Given the description of an element on the screen output the (x, y) to click on. 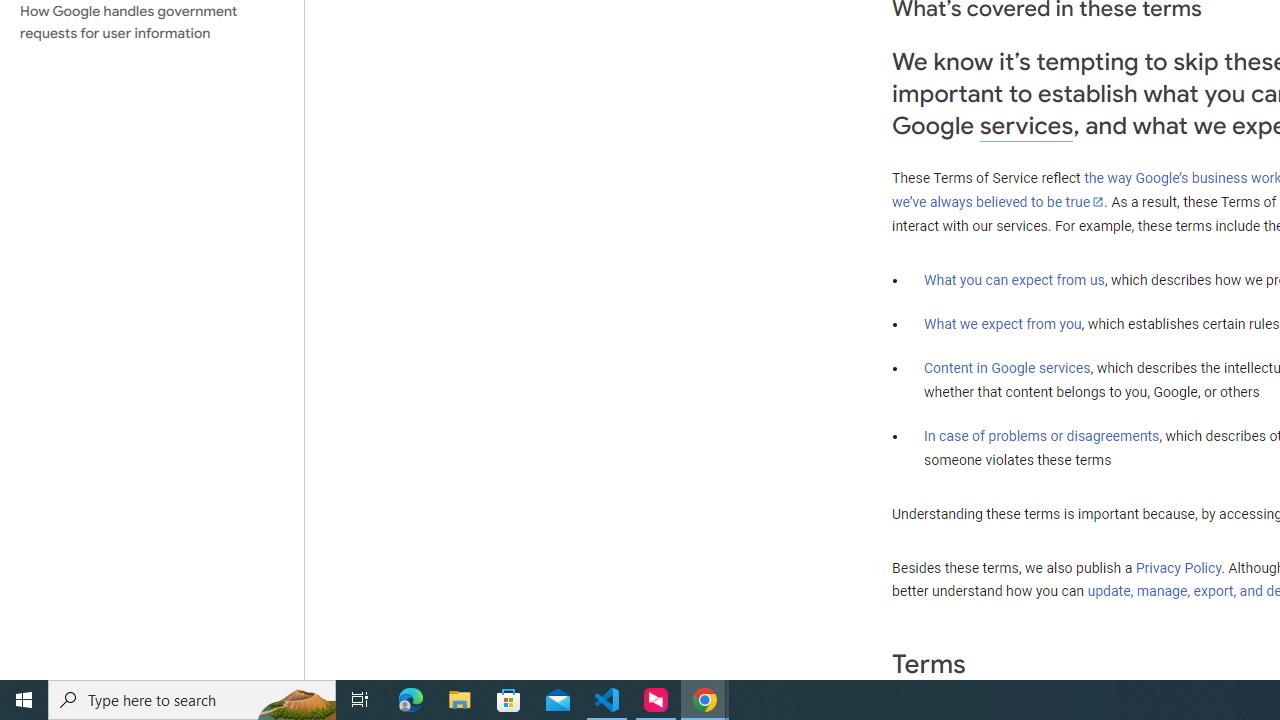
What you can expect from us (1014, 279)
services (1026, 125)
Content in Google services (1007, 368)
In case of problems or disagreements (1041, 435)
What we expect from you (1002, 323)
